Given the description of an element on the screen output the (x, y) to click on. 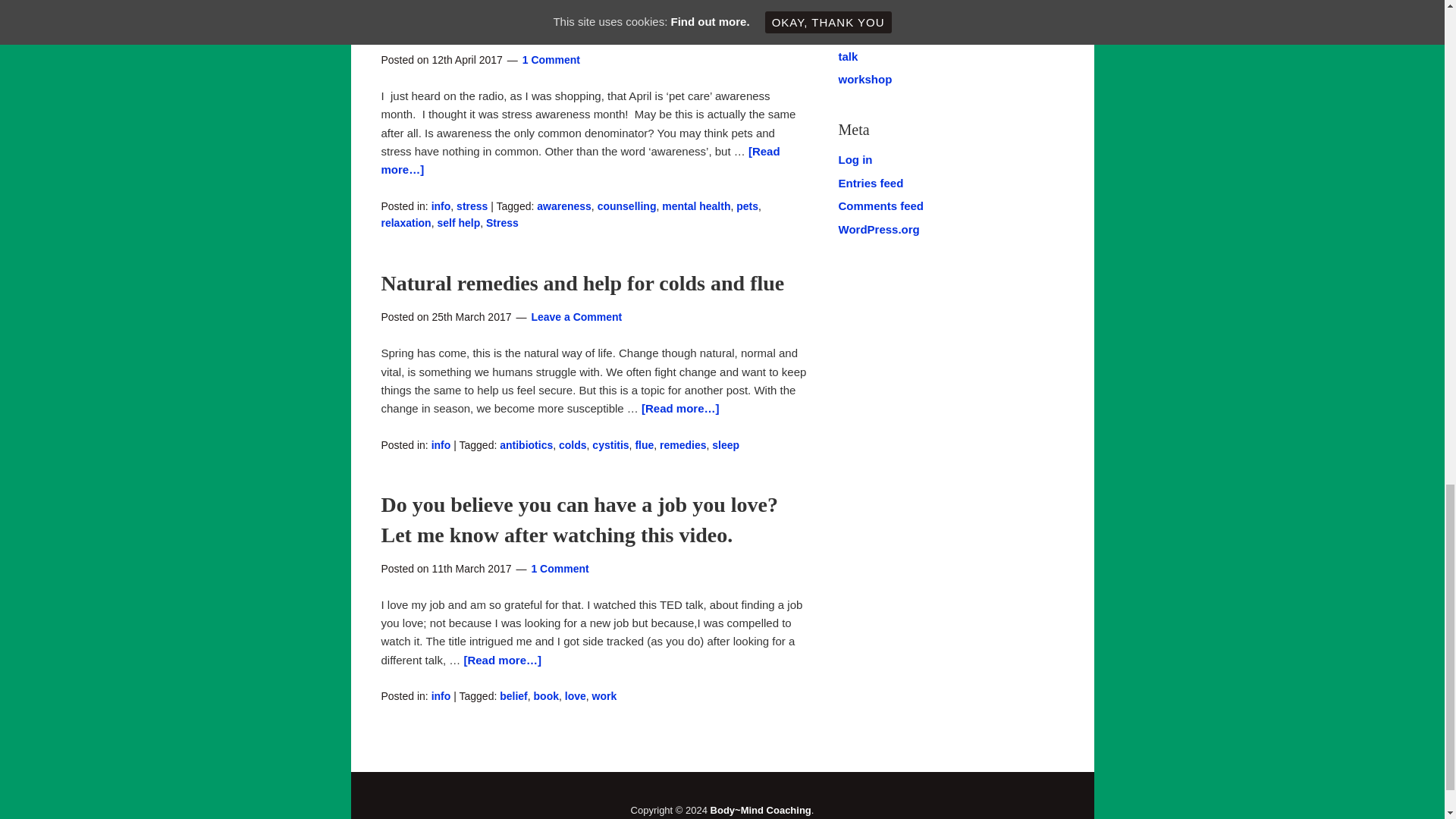
Wednesday, April 12, 2017, 10:10 pm (466, 60)
Saturday, March 11, 2017, 10:47 am (470, 568)
Saturday, March 25, 2017, 12:20 pm (470, 316)
